Given the description of an element on the screen output the (x, y) to click on. 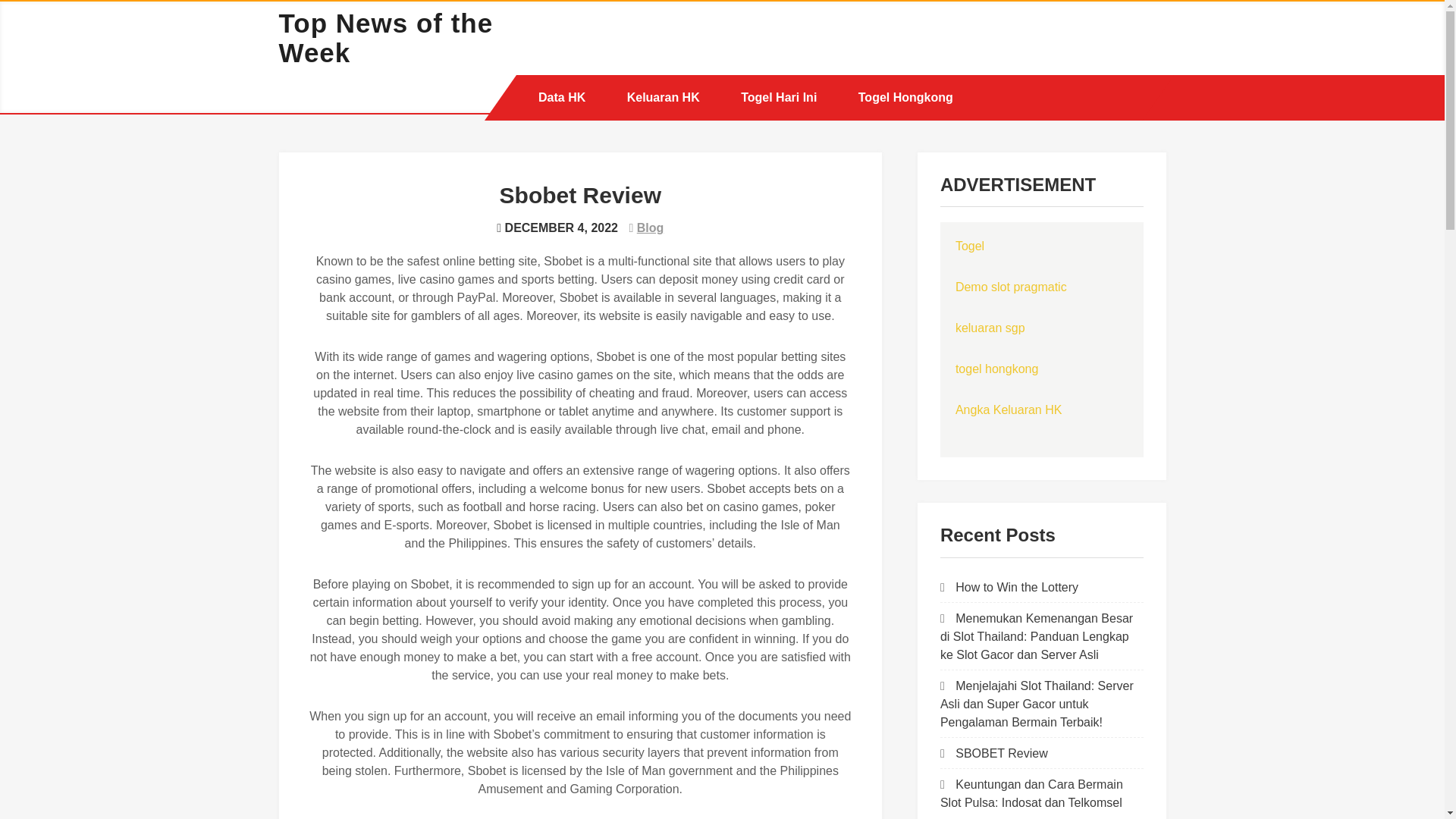
Blog (650, 227)
keluaran sgp (990, 327)
Data HK (561, 97)
Keluaran HK (663, 97)
togel hongkong (996, 368)
Demo slot pragmatic (1011, 286)
Togel Hongkong (906, 97)
Top News of the Week (386, 37)
SBOBET Review (1001, 753)
Togel Hari Ini (778, 97)
Togel (969, 245)
How to Win the Lottery (1016, 586)
